Given the description of an element on the screen output the (x, y) to click on. 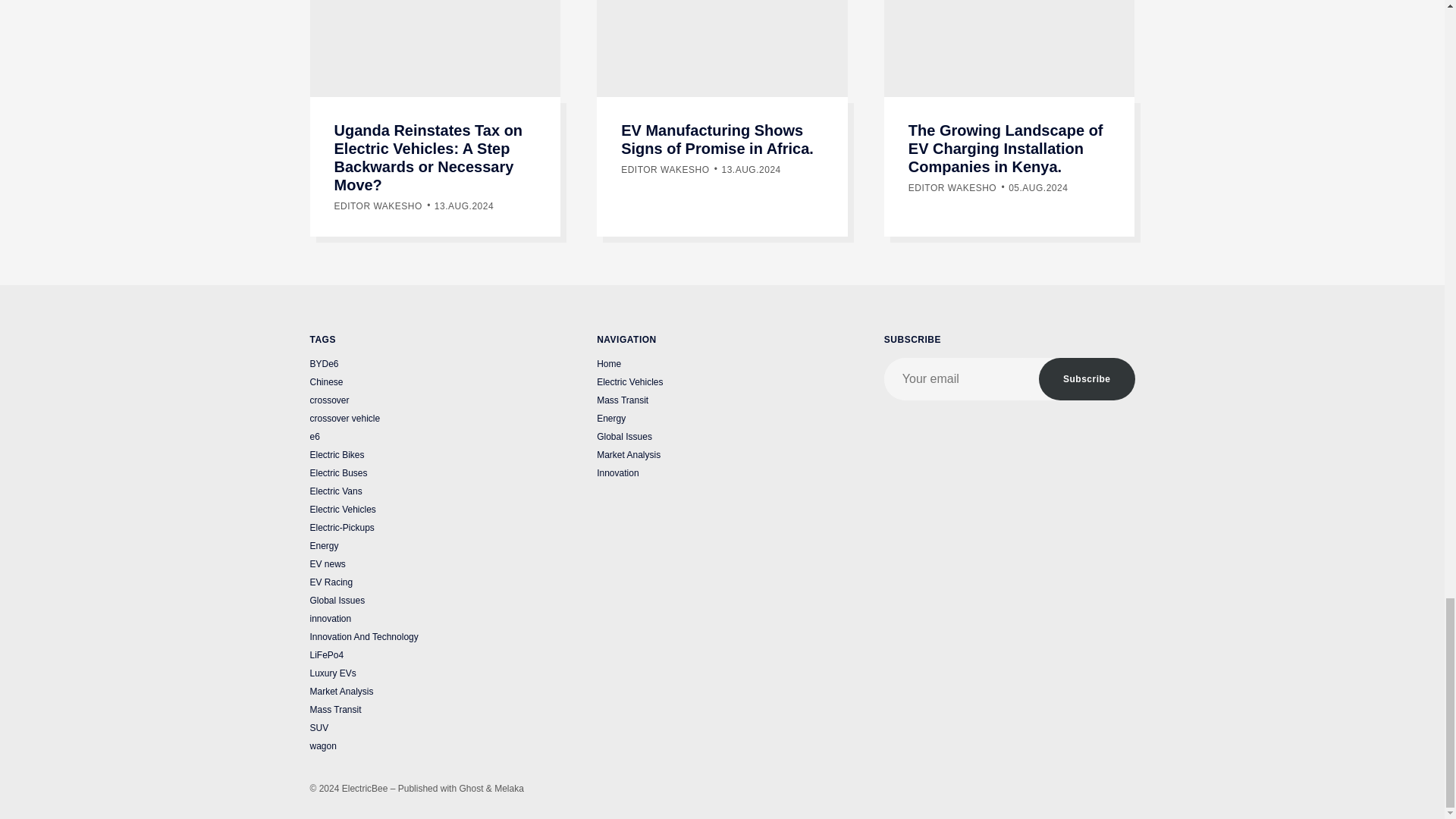
Electric Vehicles (341, 510)
Chinese (325, 383)
05 August 2024 (1038, 187)
13 August 2024 (463, 205)
EDITOR WAKESHO (377, 205)
Electric Vans (334, 492)
BYDe6 (322, 365)
EV Manufacturing Shows Signs of Promise in Africa. (717, 139)
EDITOR WAKESHO (665, 169)
